Given the description of an element on the screen output the (x, y) to click on. 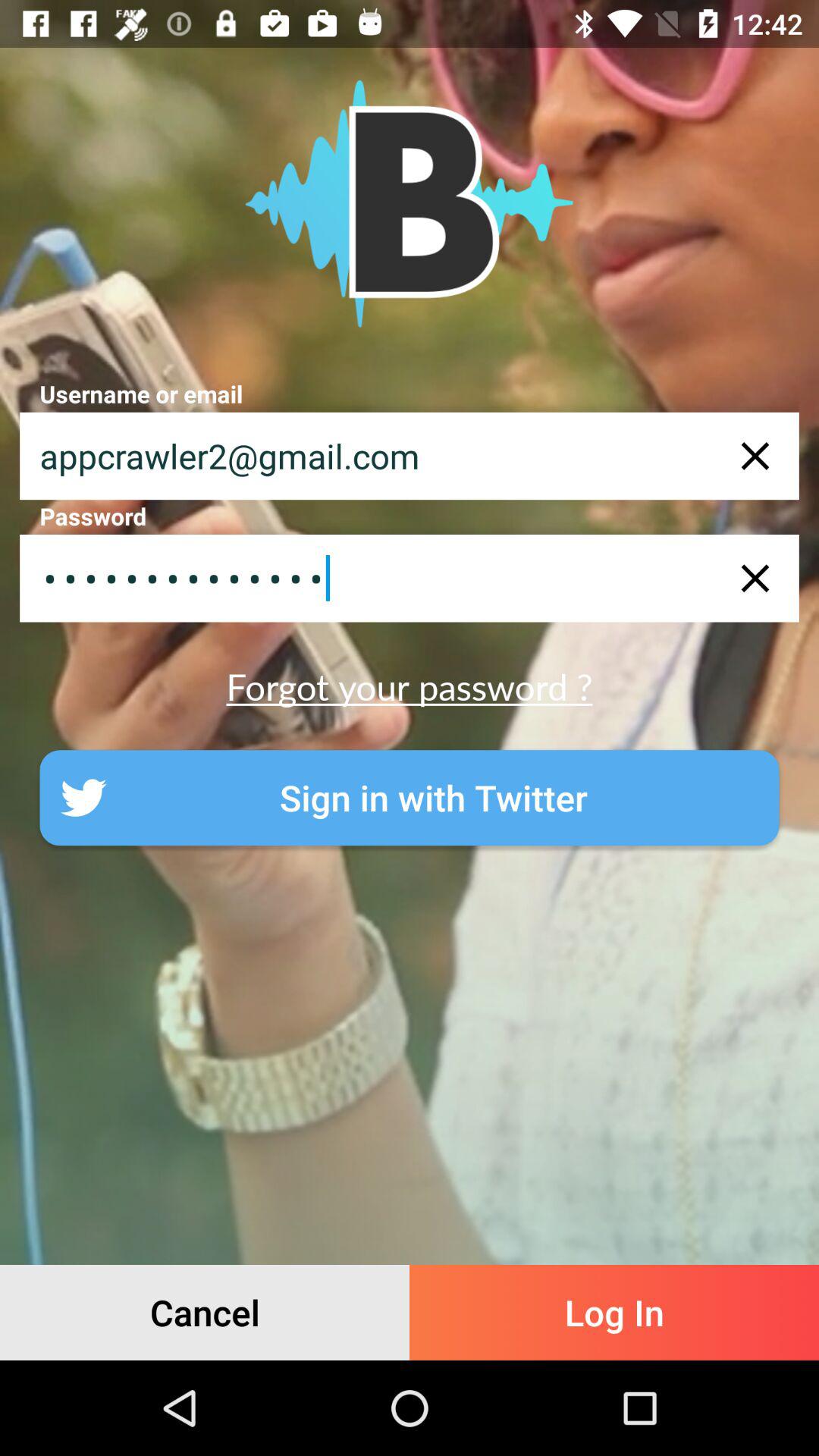
swipe until the forgot your password ? (409, 686)
